Given the description of an element on the screen output the (x, y) to click on. 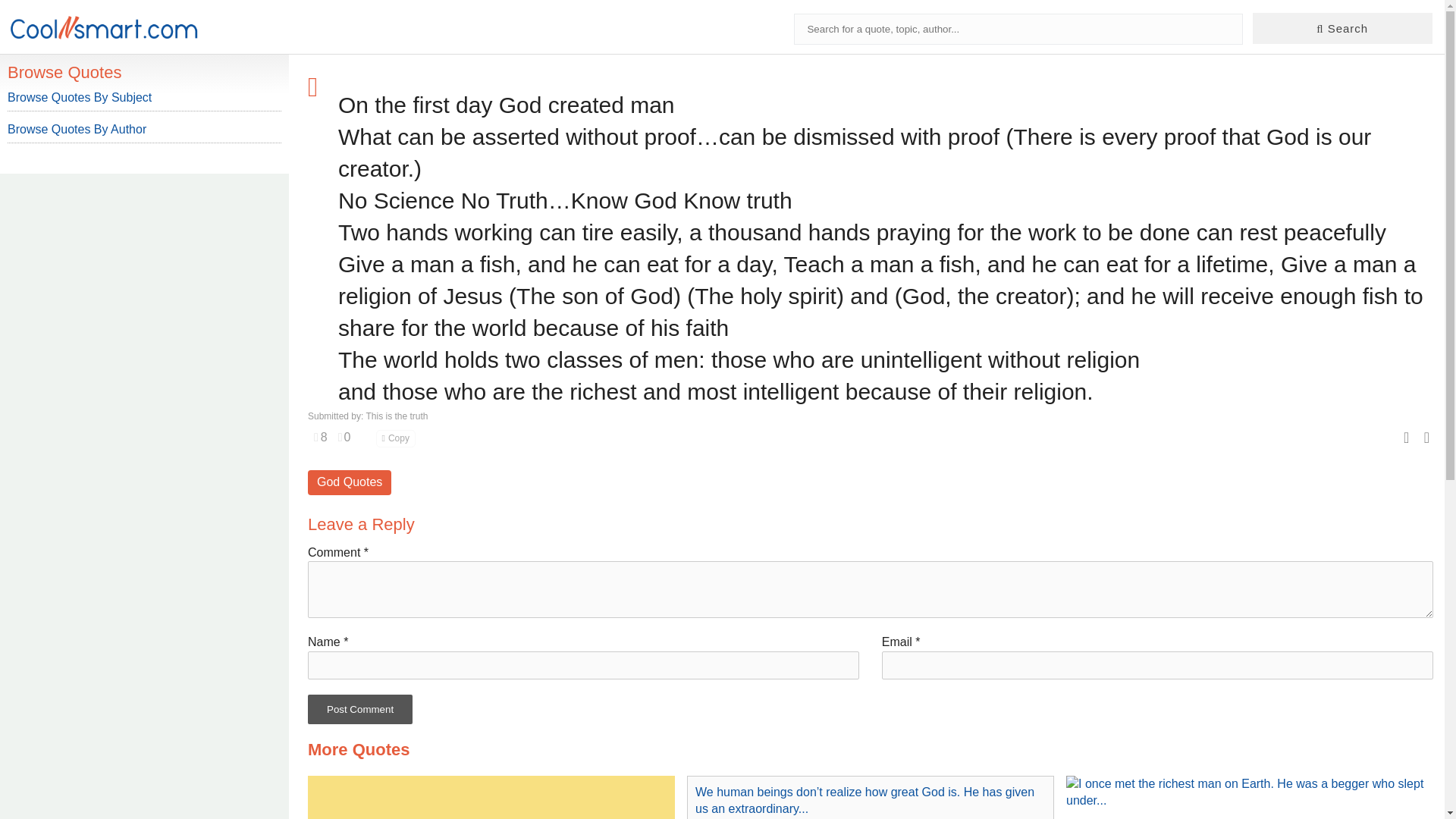
Search (1342, 28)
God Quotes (349, 482)
Copy (394, 438)
Post Comment (359, 708)
Post Comment (359, 708)
Browse Quotes By Author (77, 128)
Browse Quotes By Subject (79, 97)
